Given the description of an element on the screen output the (x, y) to click on. 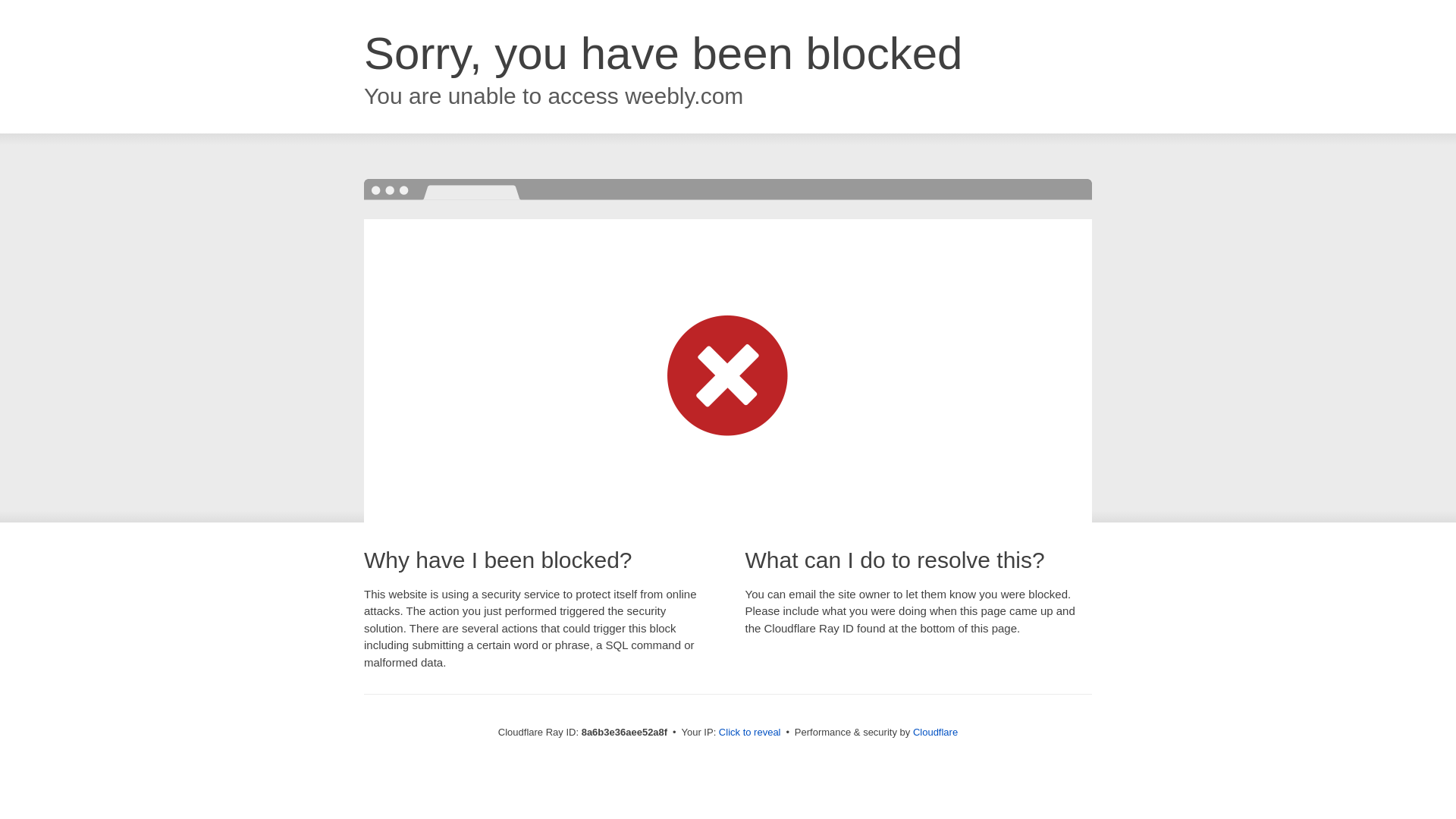
Cloudflare (935, 731)
Click to reveal (749, 732)
